Given the description of an element on the screen output the (x, y) to click on. 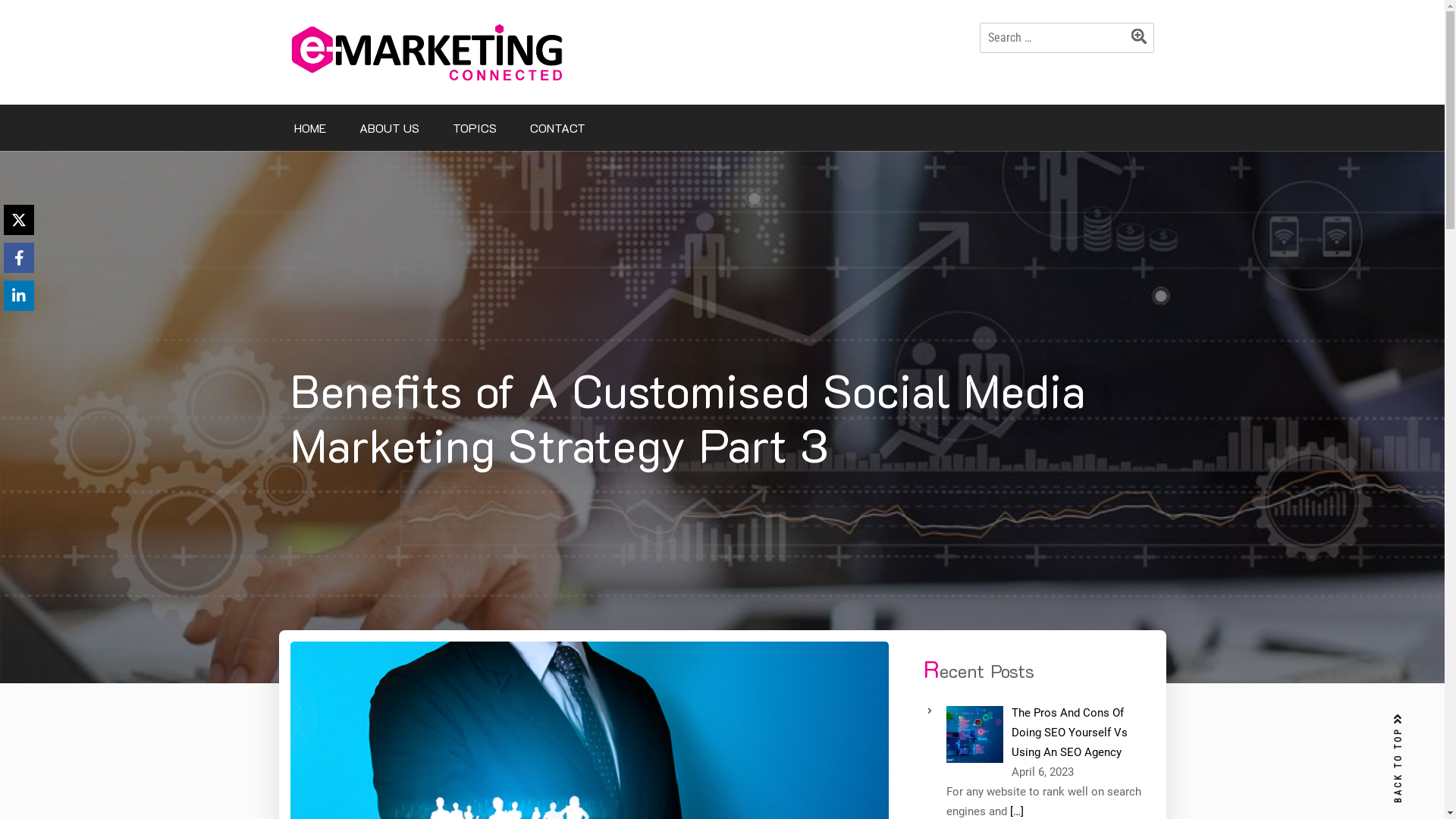
CONTACT Element type: text (556, 127)
ABOUT US Element type: text (389, 127)
Search Element type: text (1142, 38)
TOPICS Element type: text (473, 127)
HOME Element type: text (310, 127)
